Given the description of an element on the screen output the (x, y) to click on. 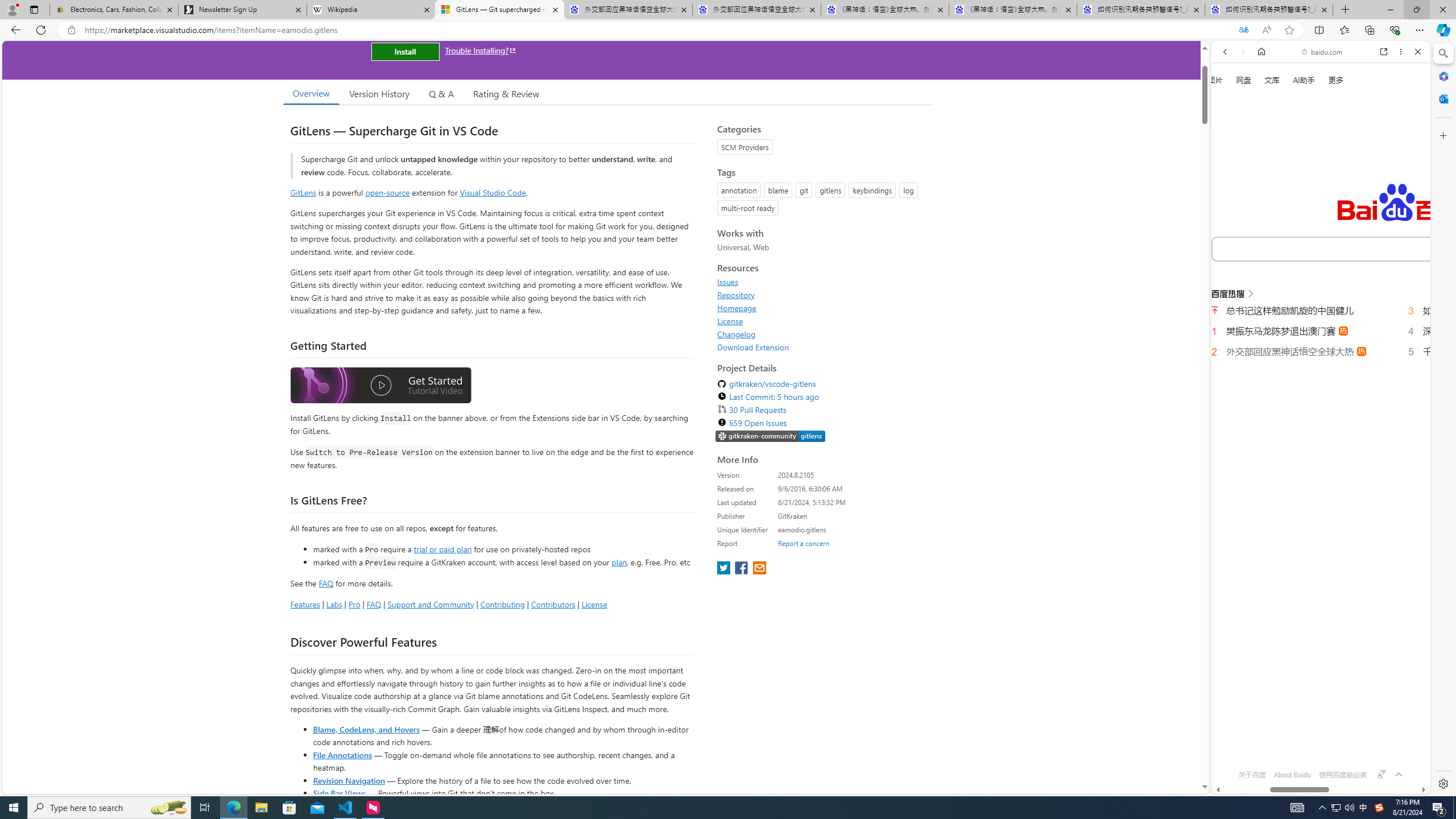
Pro (354, 603)
Global web icon (1232, 743)
Newsletter Sign Up (242, 9)
Watch the GitLens Getting Started video (380, 385)
